Given the description of an element on the screen output the (x, y) to click on. 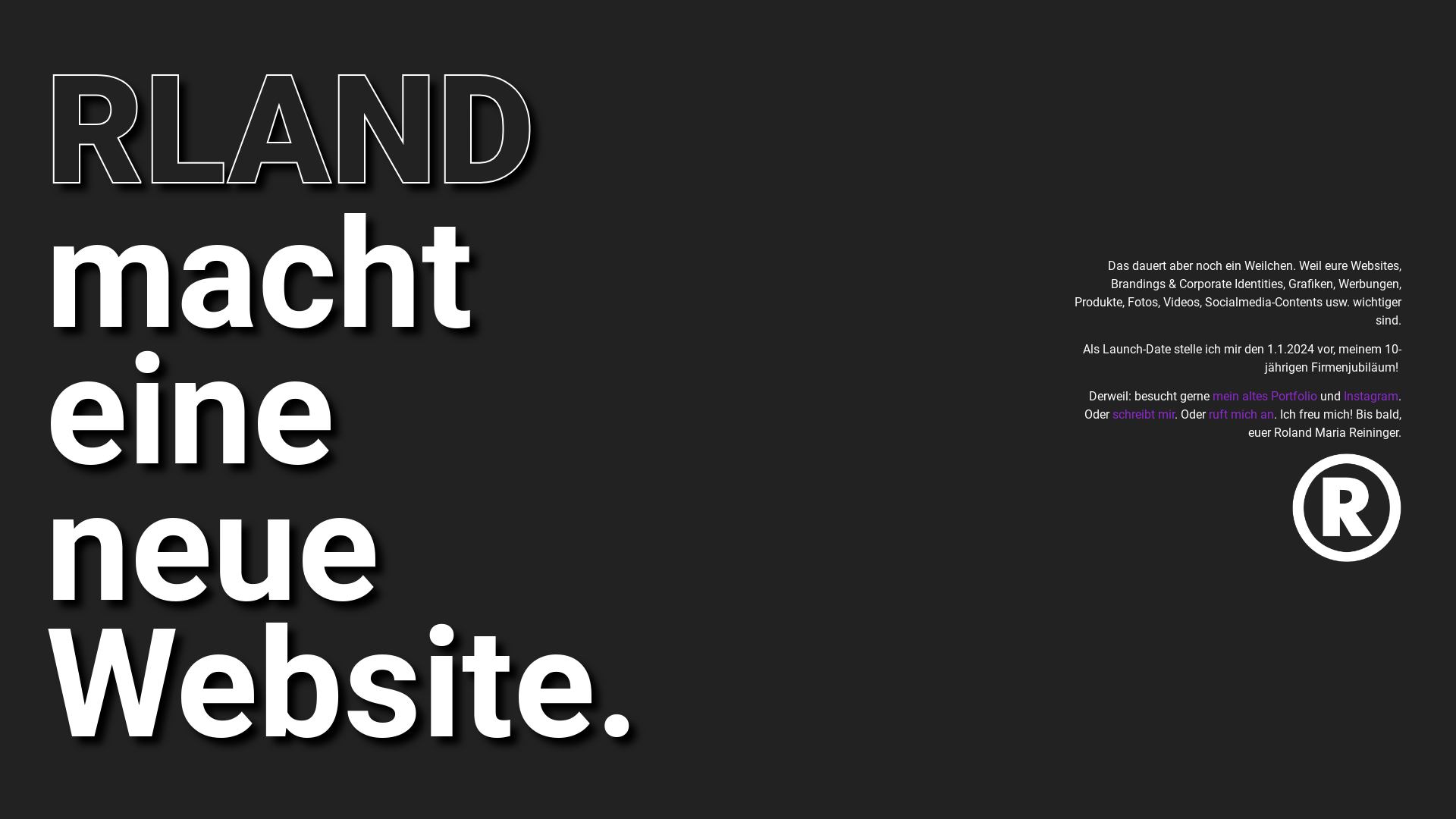
Instagram Element type: text (1370, 396)
ruft mich an Element type: text (1241, 414)
schreibt mir Element type: text (1143, 414)
mein altes Portfolio Element type: text (1264, 396)
